Given the description of an element on the screen output the (x, y) to click on. 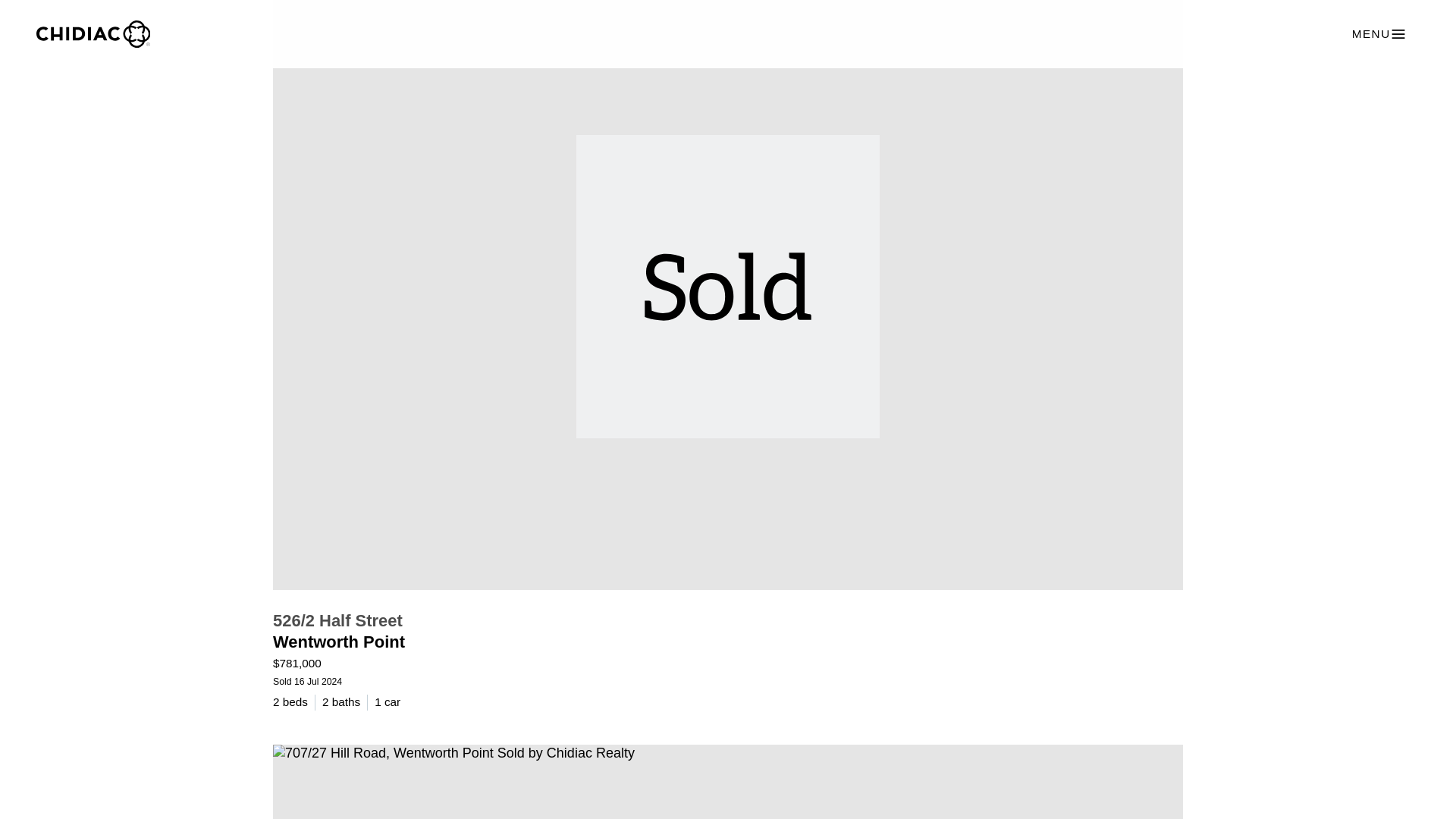
SOLD (727, 781)
